Given the description of an element on the screen output the (x, y) to click on. 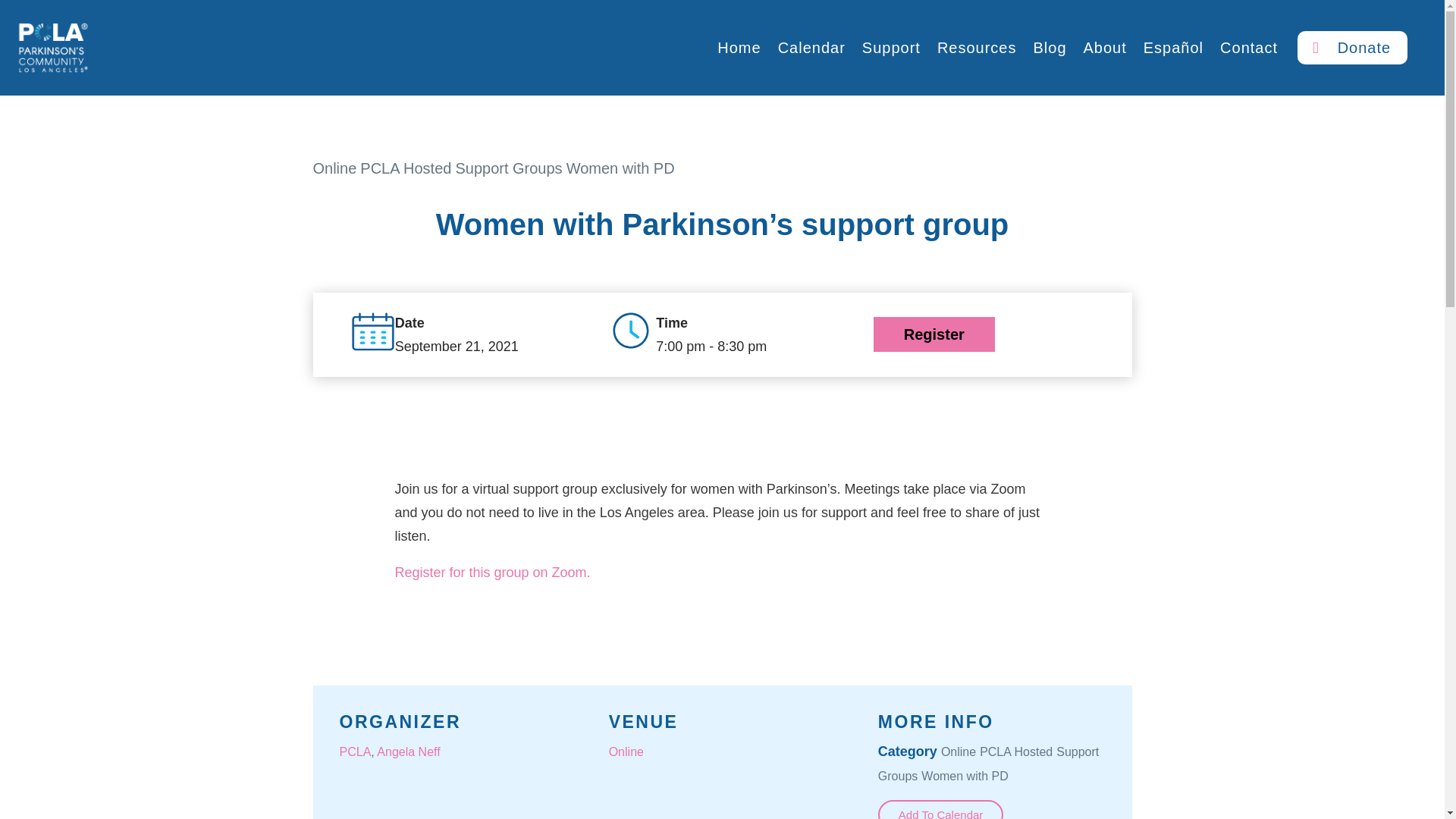
PCLA (355, 751)
Online (625, 751)
PCLA Hosted (405, 167)
Support Groups (988, 763)
Women with PD (620, 167)
Register for this group on Zoom. (491, 572)
clock (630, 330)
calendar (372, 331)
Online (957, 751)
Register (933, 334)
